Given the description of an element on the screen output the (x, y) to click on. 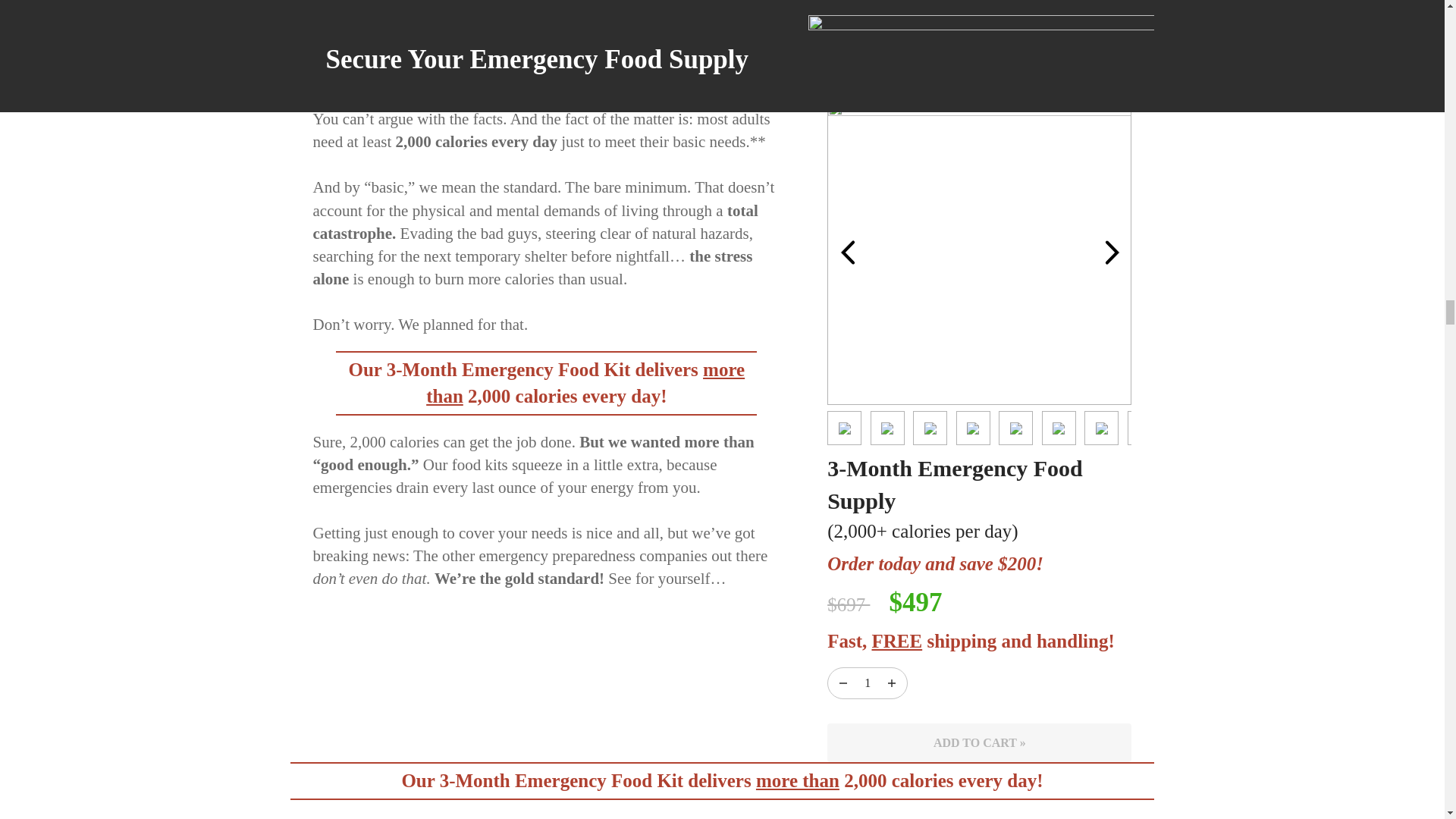
Go to the previous slide (847, 252)
Quantity (867, 682)
1 (867, 682)
Go to the next slide Next (1112, 252)
Go to the next slide (1111, 252)
Quantity (843, 682)
Go to the previous slide Preview (847, 252)
Quantity (891, 682)
